Given the description of an element on the screen output the (x, y) to click on. 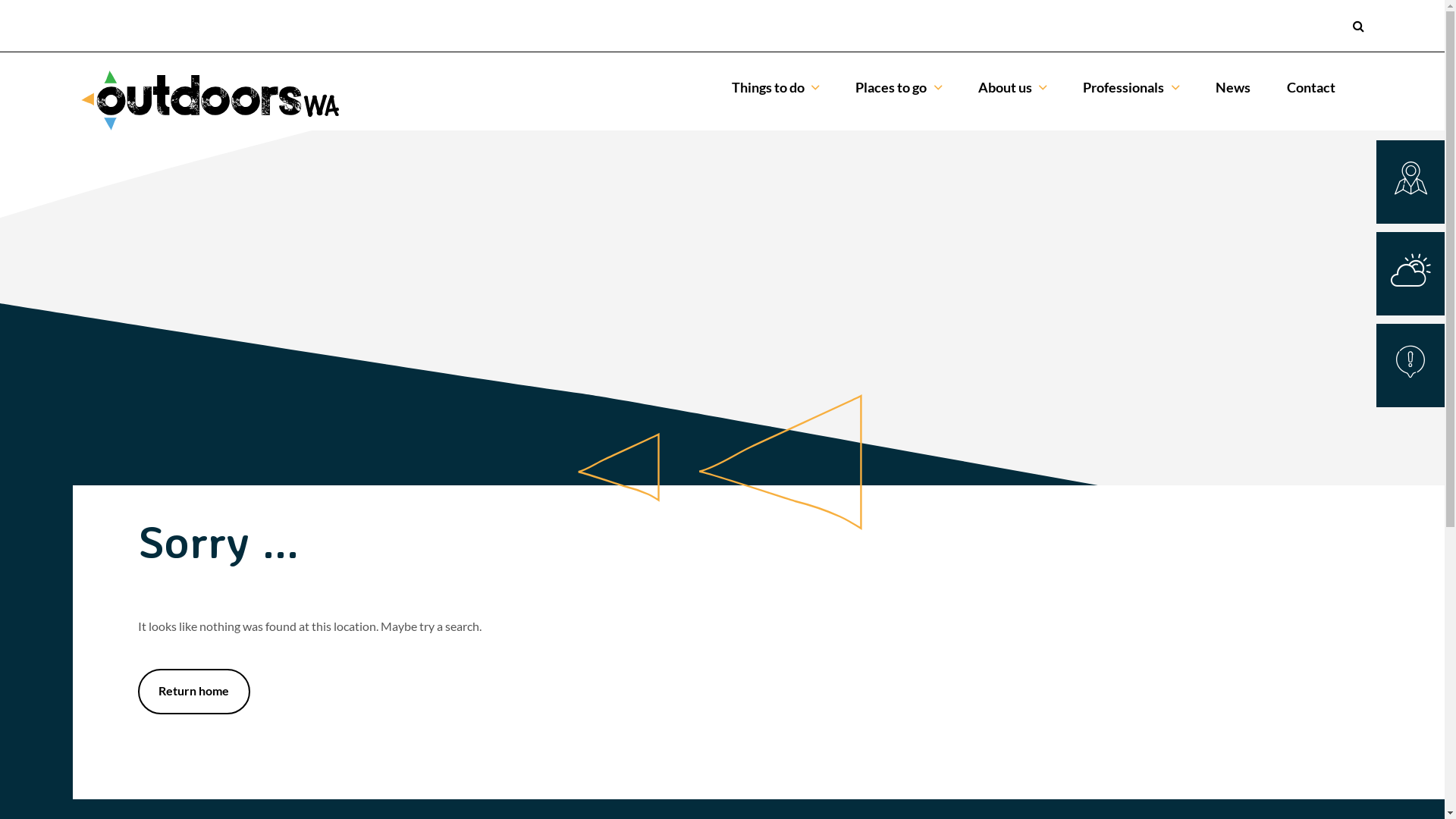
Things to do Element type: text (775, 87)
News Element type: text (1232, 87)
Professionals Element type: text (1130, 87)
Return home Element type: text (194, 691)
Contact Element type: text (1310, 87)
Places to go Element type: text (898, 87)
About us Element type: text (1012, 87)
